Given the description of an element on the screen output the (x, y) to click on. 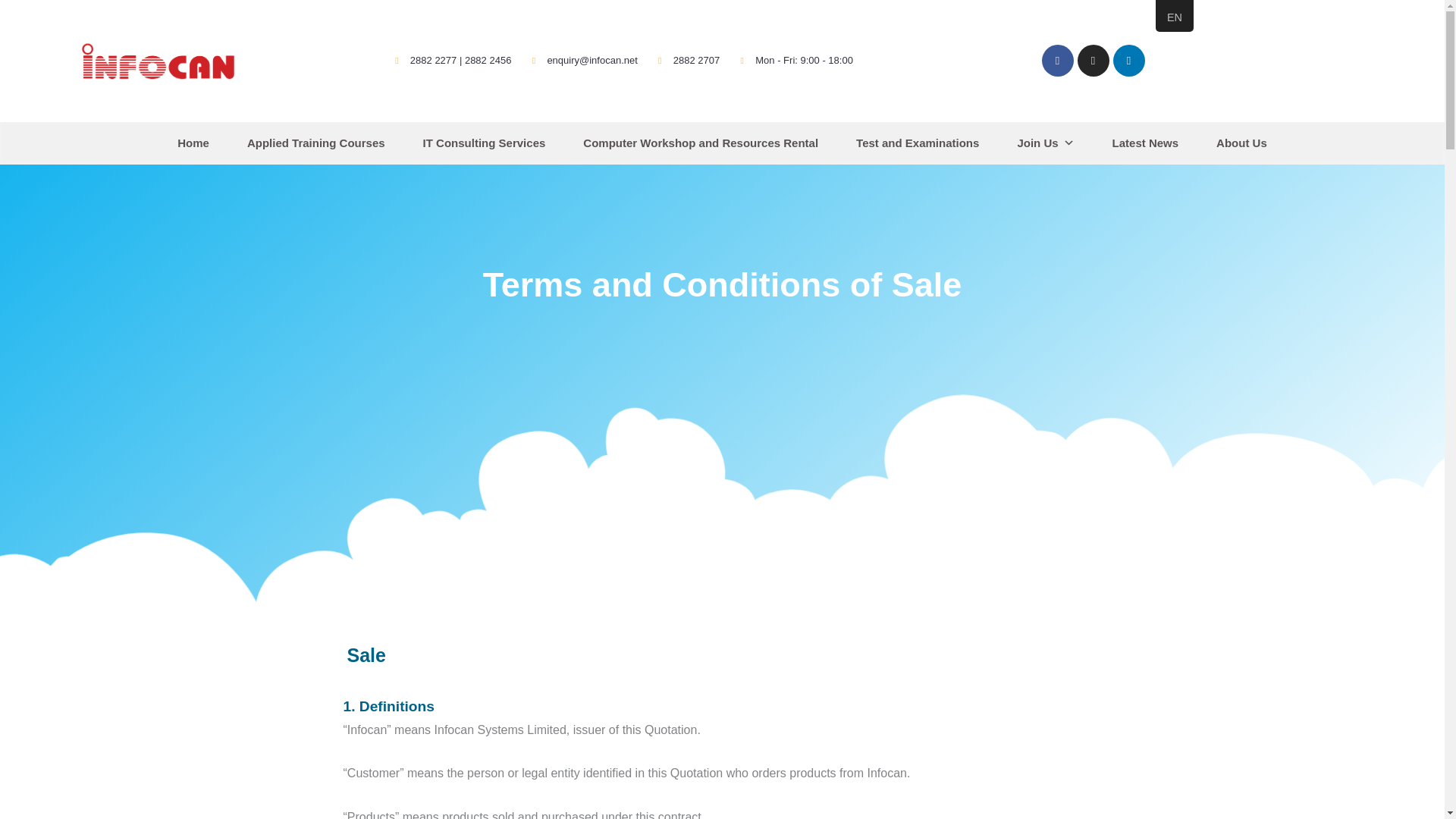
Test and Examinations (917, 143)
IT Consulting Services (484, 143)
Computer Workshop and Resources Rental (700, 143)
Applied Training Courses (316, 143)
Latest News (1145, 143)
About Us (1240, 143)
Join Us (1045, 143)
Home (193, 143)
Sale (366, 654)
